Given the description of an element on the screen output the (x, y) to click on. 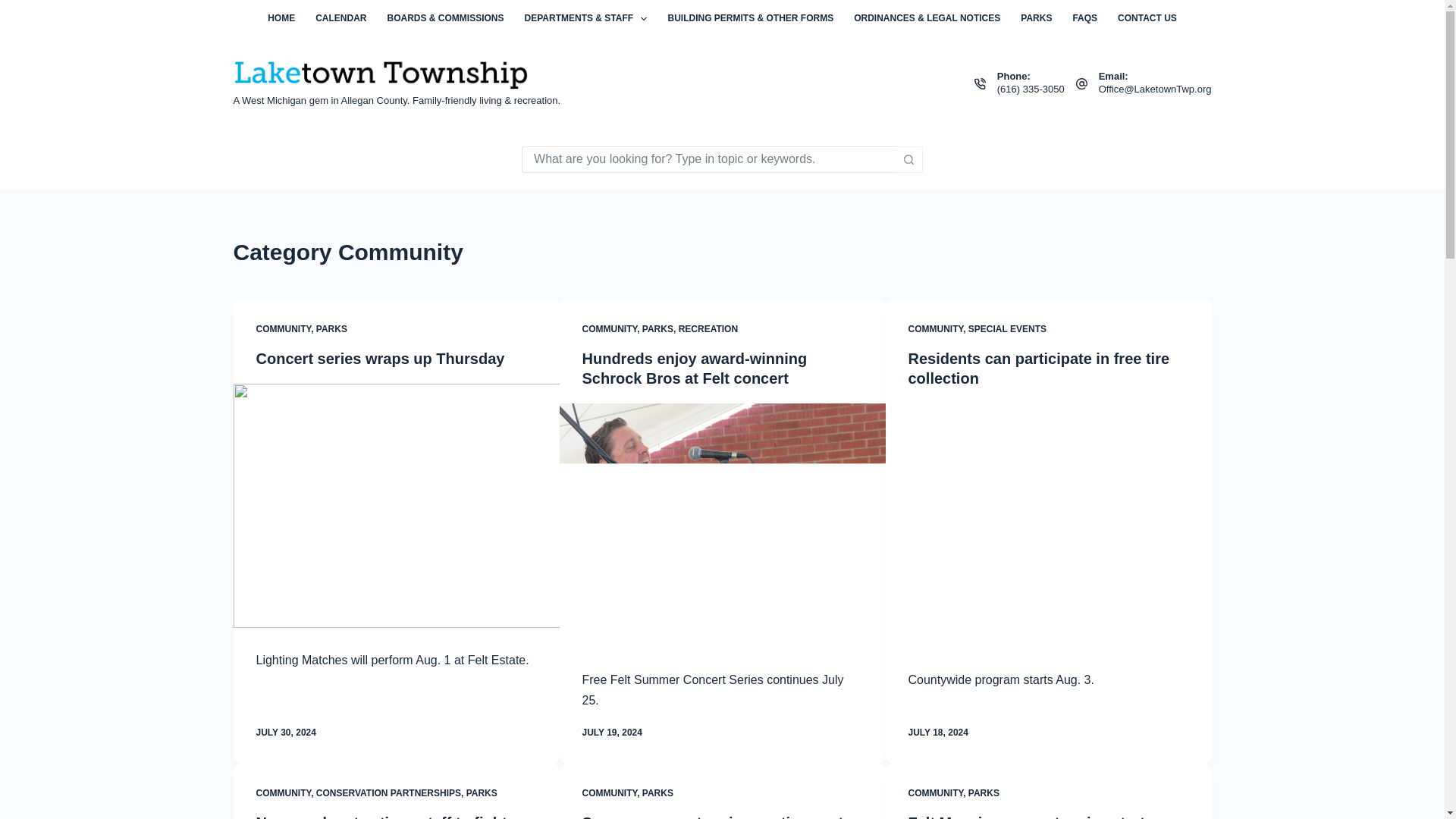
Skip to content (15, 7)
COMMUNITY (283, 328)
Search for... (708, 158)
HOME (281, 18)
CONTACT US (1148, 18)
Category Community (721, 252)
PARKS (1036, 18)
FAQS (1085, 18)
CALENDAR (341, 18)
PARKS (331, 328)
